Given the description of an element on the screen output the (x, y) to click on. 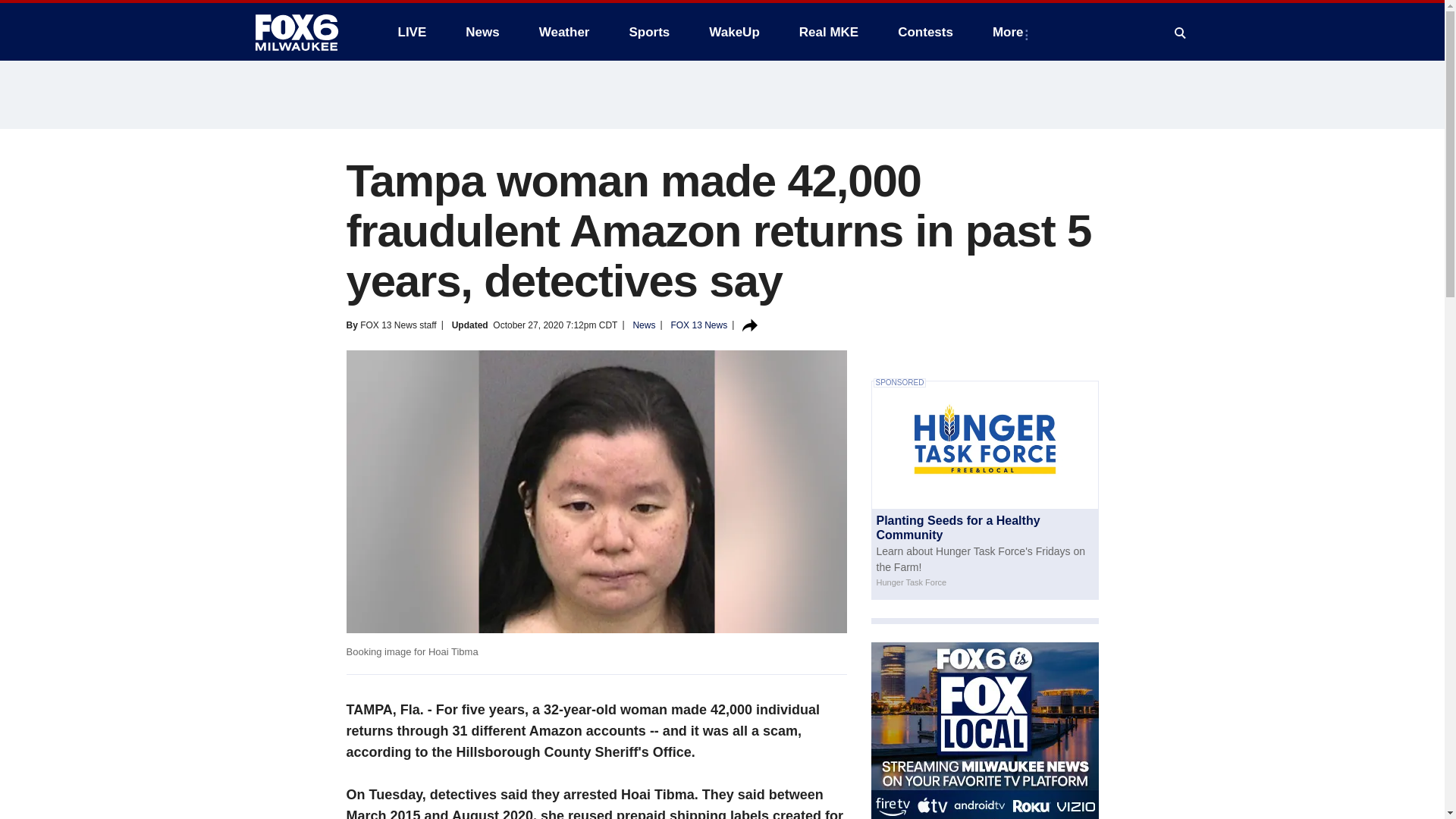
LIVE (411, 32)
Sports (648, 32)
Real MKE (828, 32)
More (1010, 32)
Weather (564, 32)
WakeUp (734, 32)
Contests (925, 32)
News (481, 32)
